Given the description of an element on the screen output the (x, y) to click on. 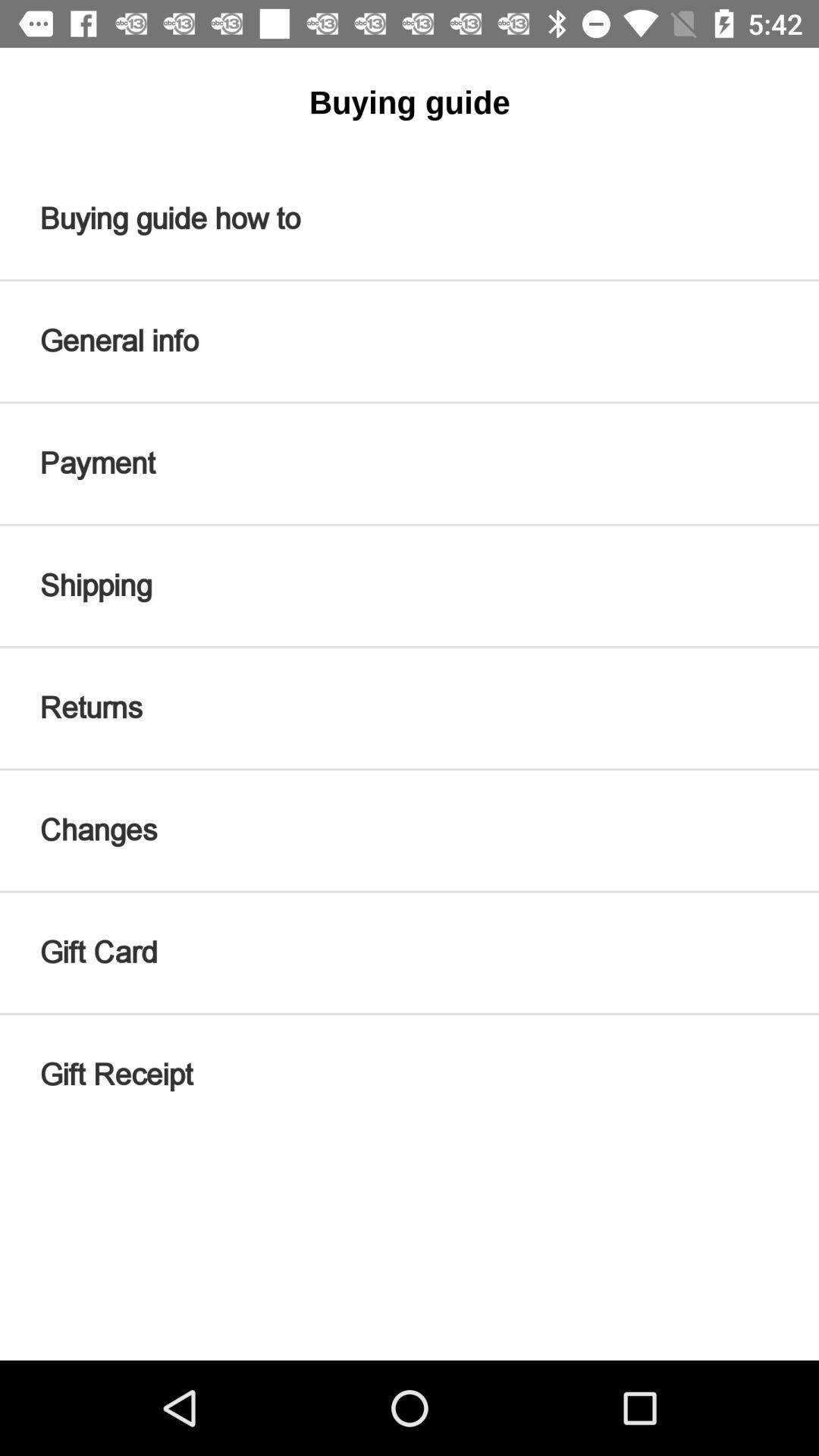
select the returns (409, 708)
